Given the description of an element on the screen output the (x, y) to click on. 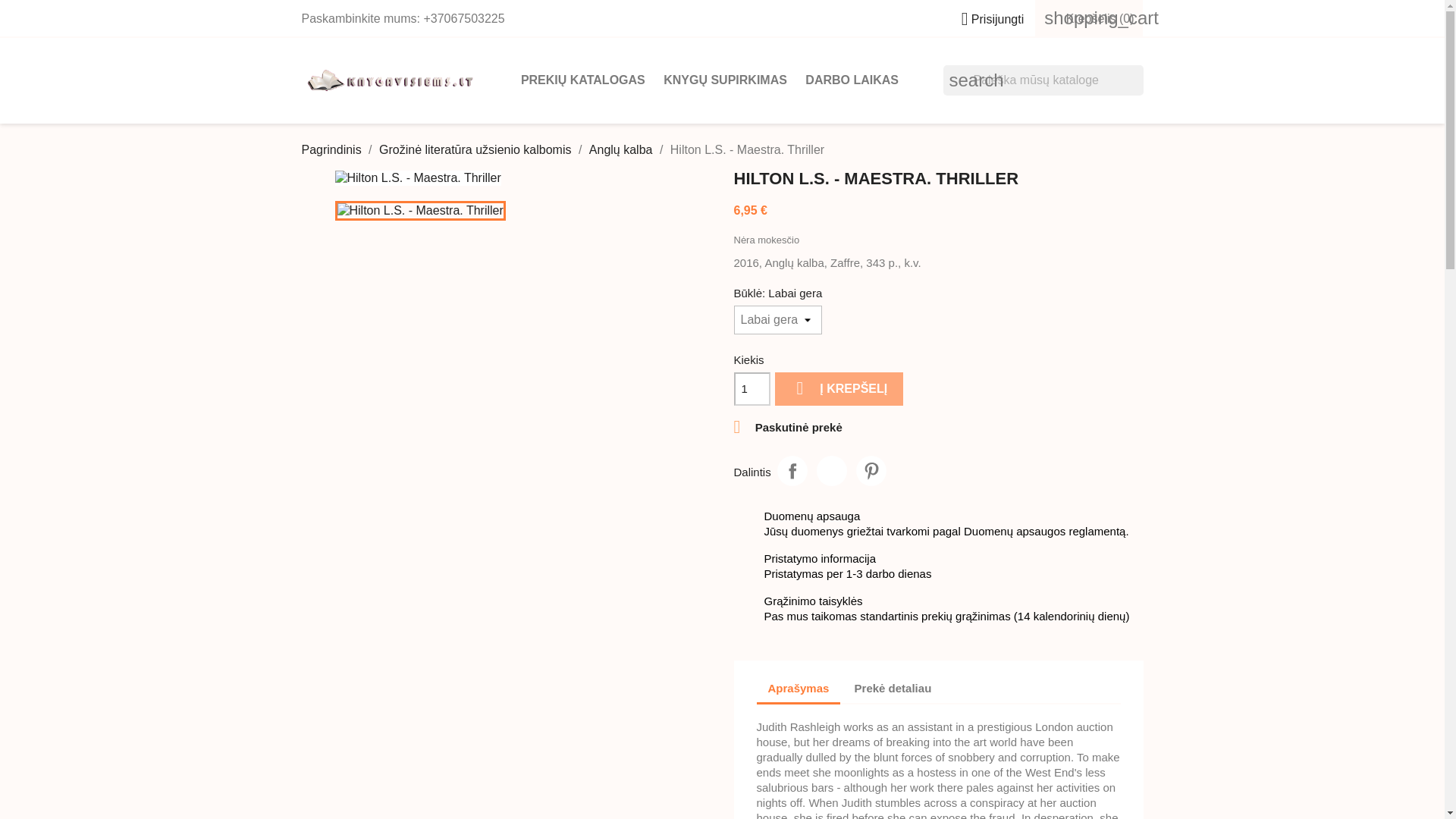
Twitter (831, 470)
Hilton L.S. - Maestra. Thriller (419, 210)
1 (751, 388)
Prisijungti prie savo paskyros (986, 19)
Hilton L.S. - Maestra. Thriller (417, 177)
Pinterest (871, 470)
Dalintis (792, 470)
